Given the description of an element on the screen output the (x, y) to click on. 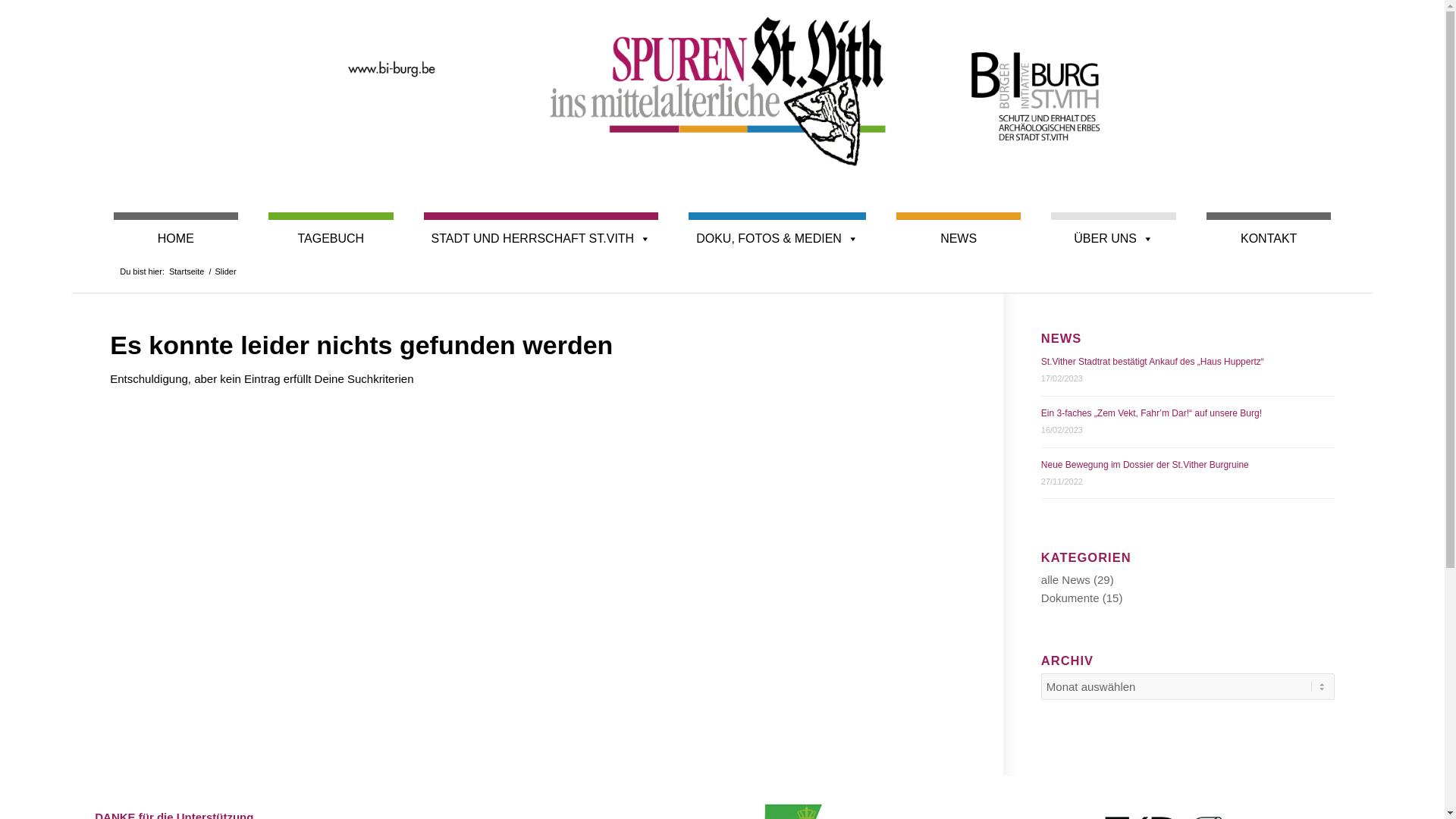
Neue Bewegung im Dossier der St.Vither Burgruine Element type: text (1144, 464)
BI-BURG_header-5 Element type: hover (722, 87)
Dokumente Element type: text (1070, 597)
NEWS Element type: text (958, 231)
STADT UND HERRSCHAFT ST.VITH Element type: text (540, 231)
HOME Element type: text (175, 231)
alle News Element type: text (1065, 579)
KONTAKT Element type: text (1268, 231)
TAGEBUCH Element type: text (330, 231)
Startseite Element type: text (186, 271)
DOKU, FOTOS & MEDIEN Element type: text (777, 231)
